Given the description of an element on the screen output the (x, y) to click on. 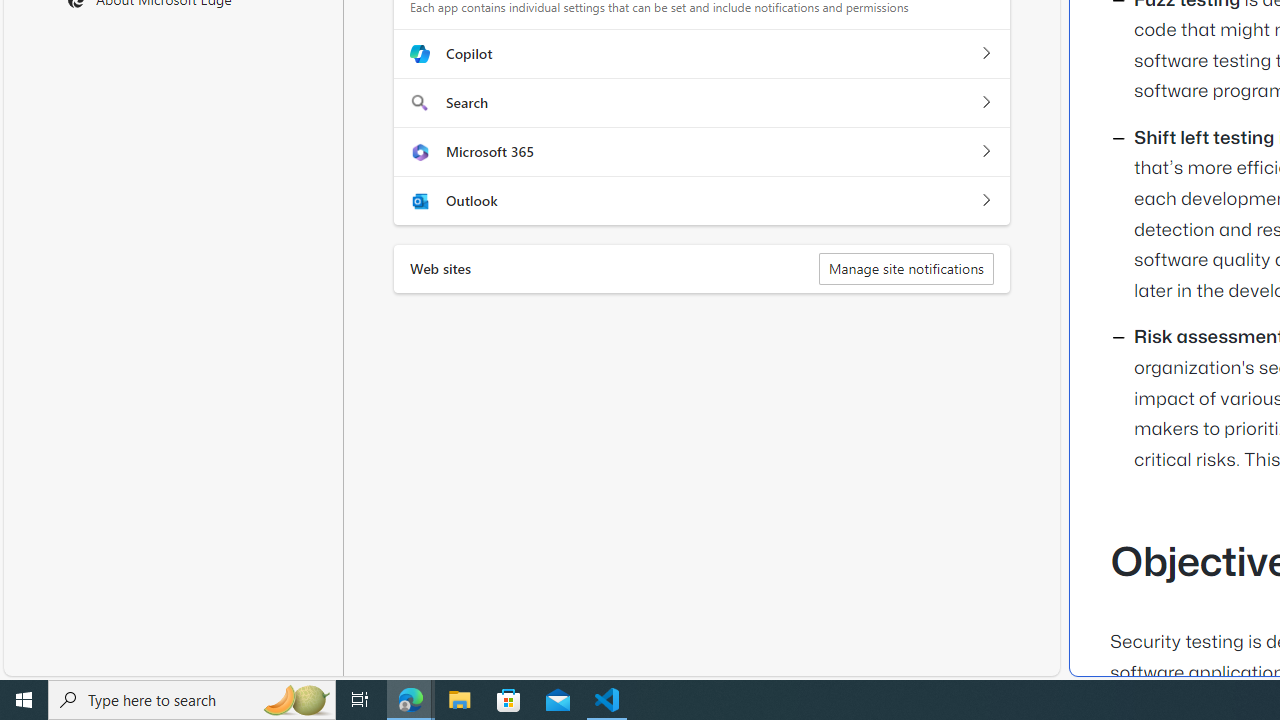
Manage site notifications (905, 268)
Copilot (985, 54)
